Given the description of an element on the screen output the (x, y) to click on. 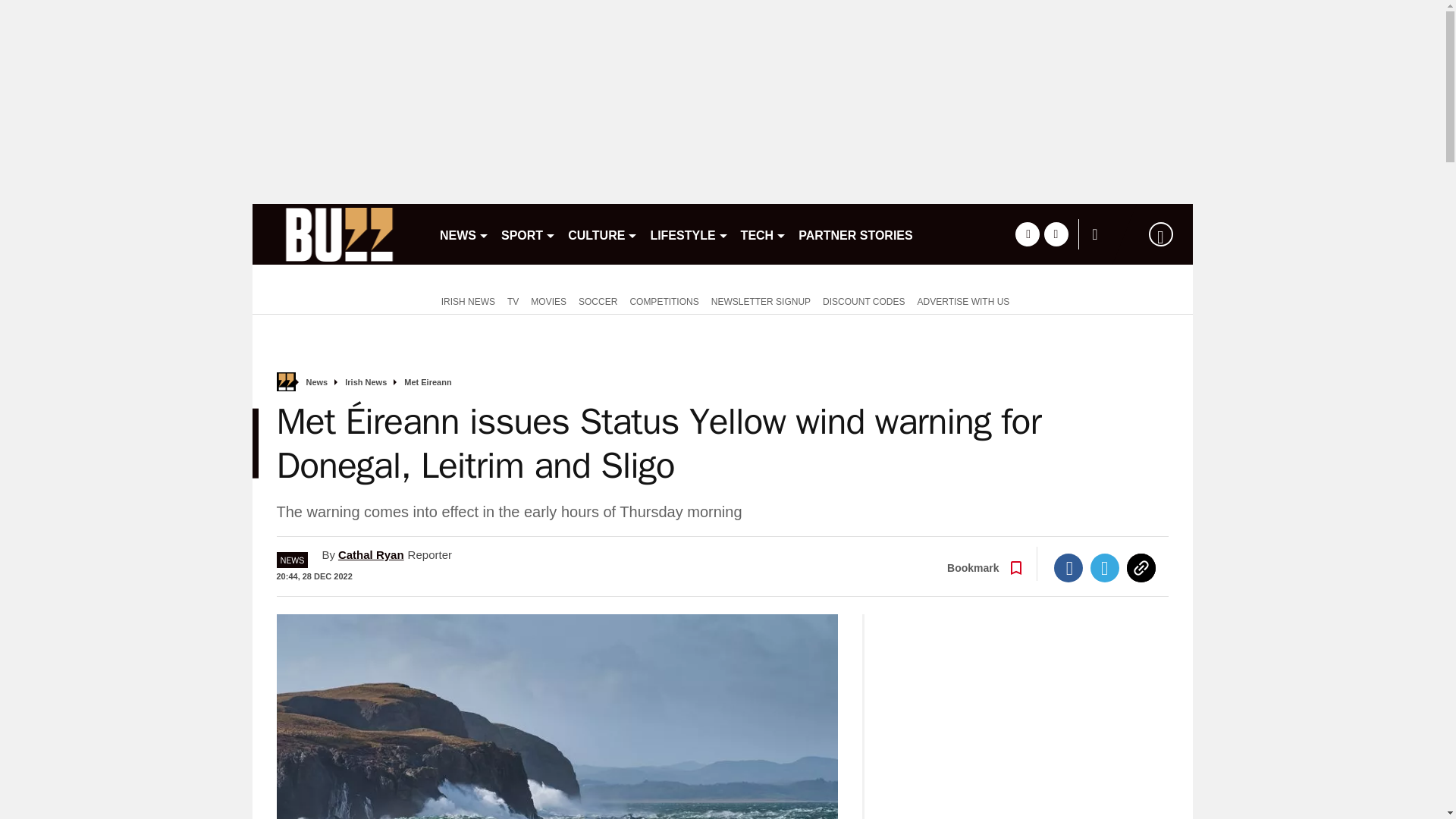
facebook (1026, 233)
CULTURE (602, 233)
SPORT (528, 233)
Facebook (1068, 567)
PARTNER STORIES (855, 233)
Twitter (1104, 567)
TECH (764, 233)
NEWS (464, 233)
LIFESTYLE (688, 233)
buzz (338, 233)
twitter (1055, 233)
